Given the description of an element on the screen output the (x, y) to click on. 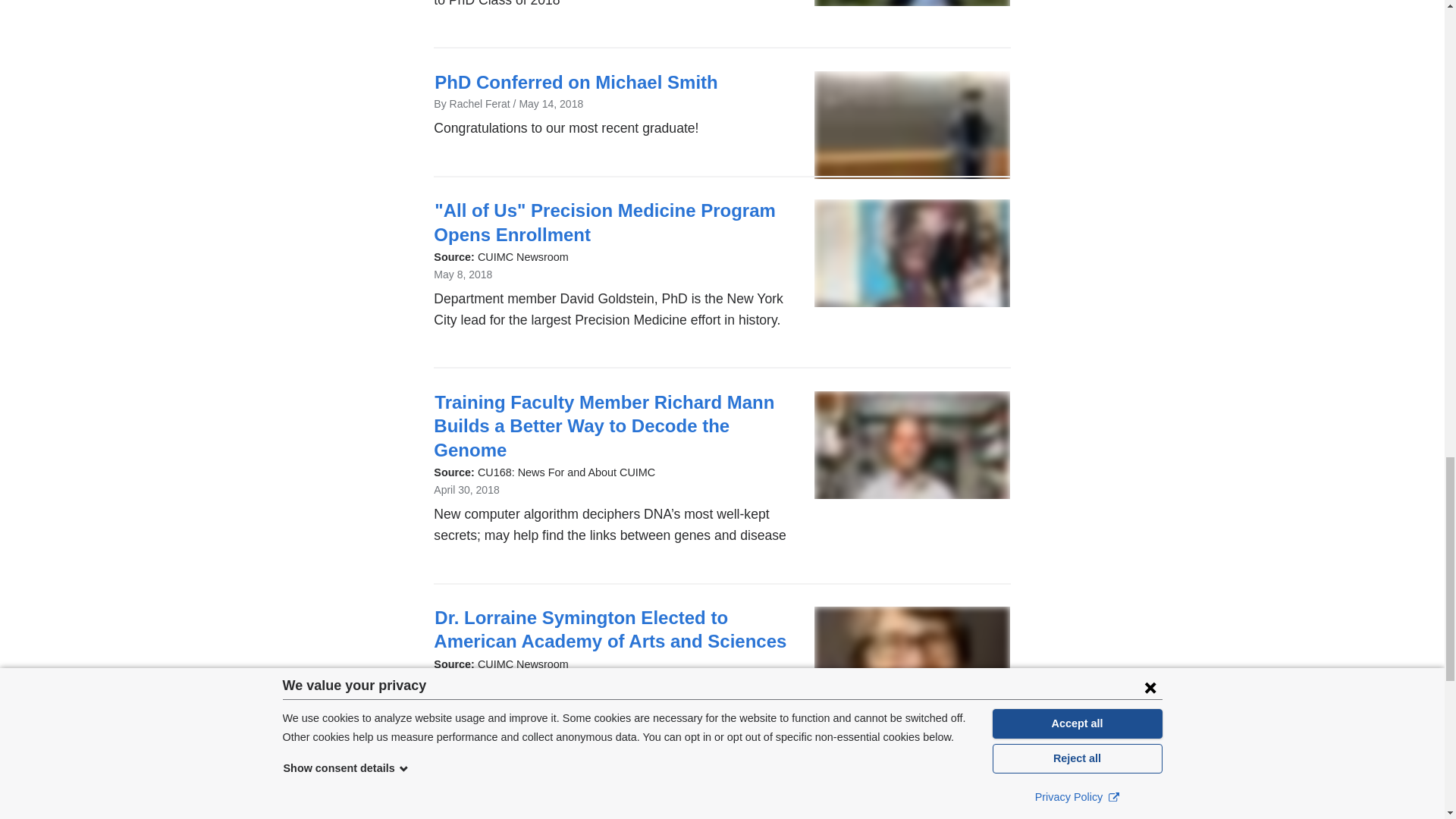
PhD Conferred on Michael Smith (575, 82)
"All of Us" Precision Medicine Program Opens Enrollment (604, 221)
